Given the description of an element on the screen output the (x, y) to click on. 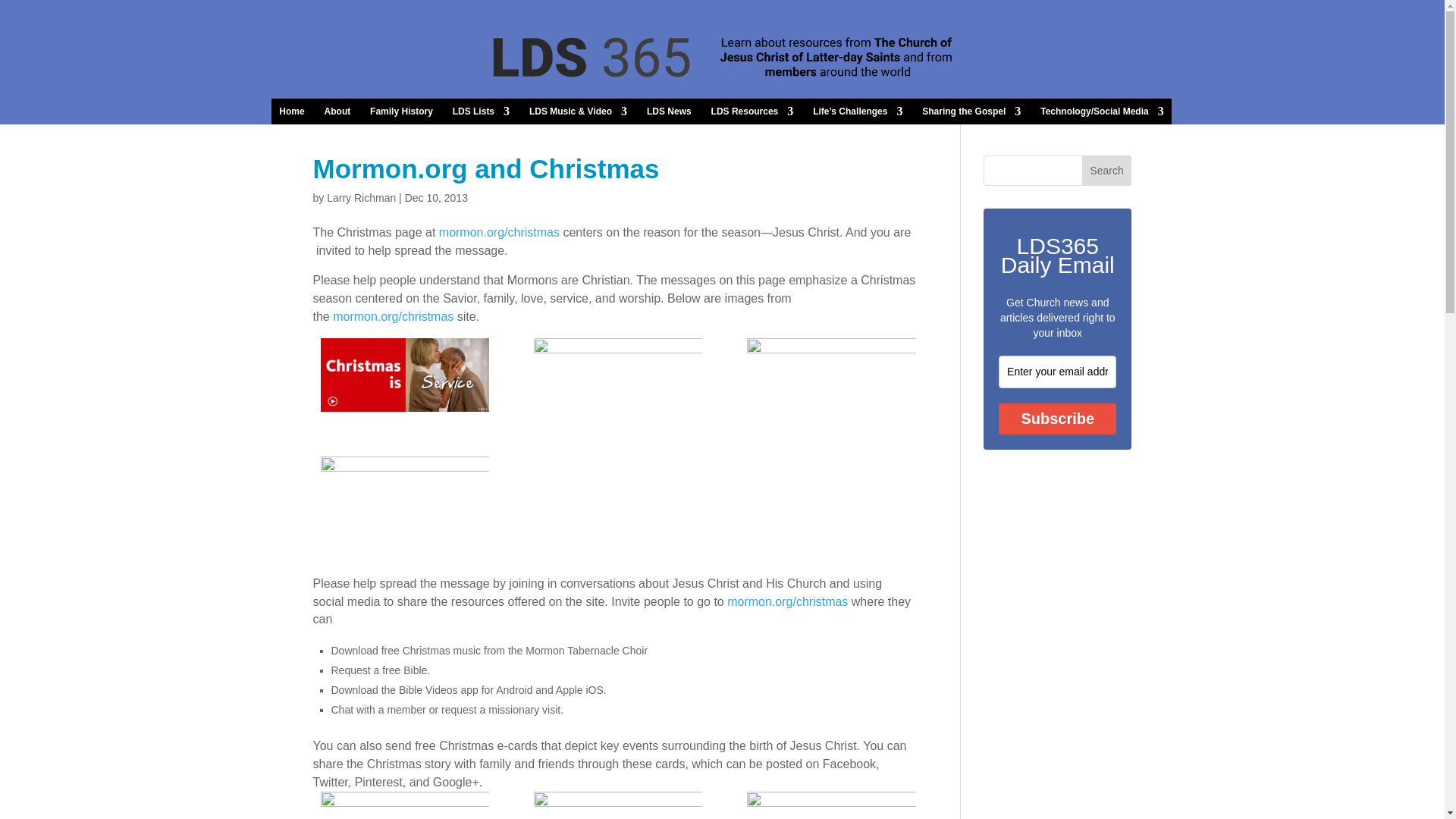
mormon-christmas-love (618, 375)
Home (291, 111)
Christmas-card-5 (830, 805)
Posts by Larry Richman (361, 197)
Family History (400, 111)
About (337, 111)
mormon-christmas-jesus-christ (830, 374)
Search (1106, 170)
Christmas-card-6 (618, 805)
LDS Resources (752, 111)
